Given the description of an element on the screen output the (x, y) to click on. 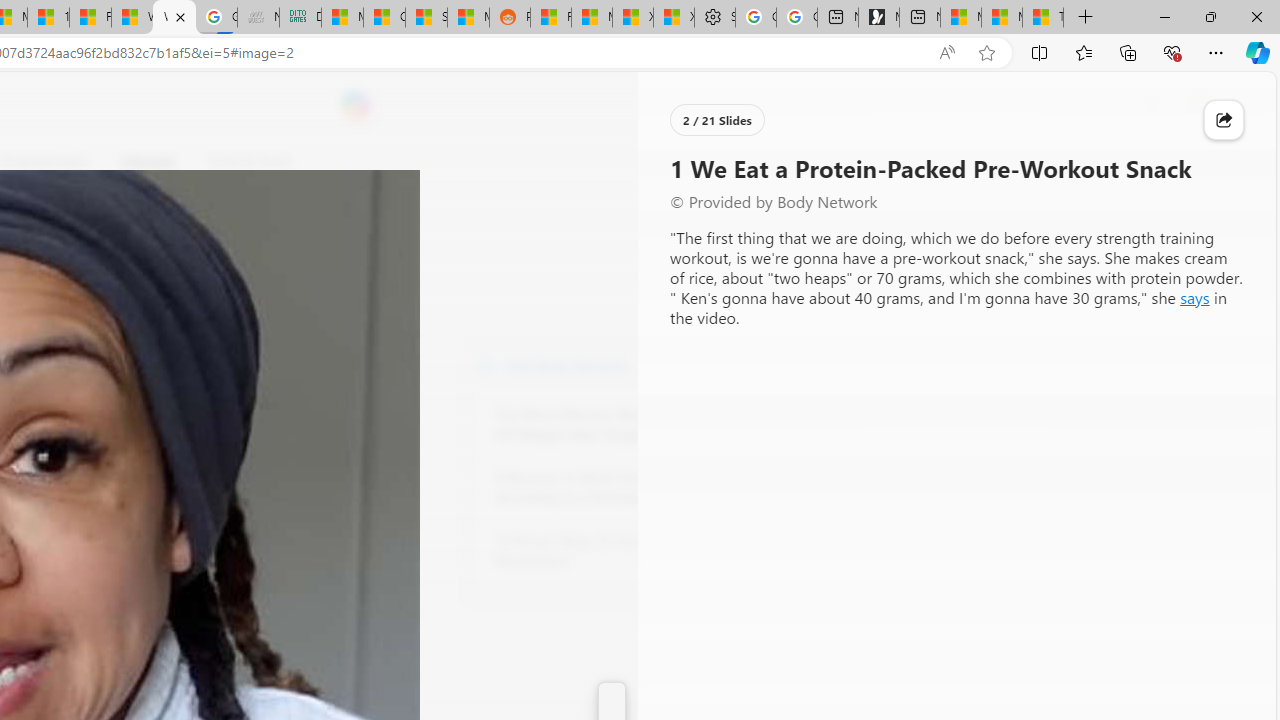
Class: at-item immersive (1224, 120)
Visit Body Network website (733, 364)
Open settings (1231, 105)
Fitness - MSN (90, 17)
Share this story (1224, 119)
